Given the description of an element on the screen output the (x, y) to click on. 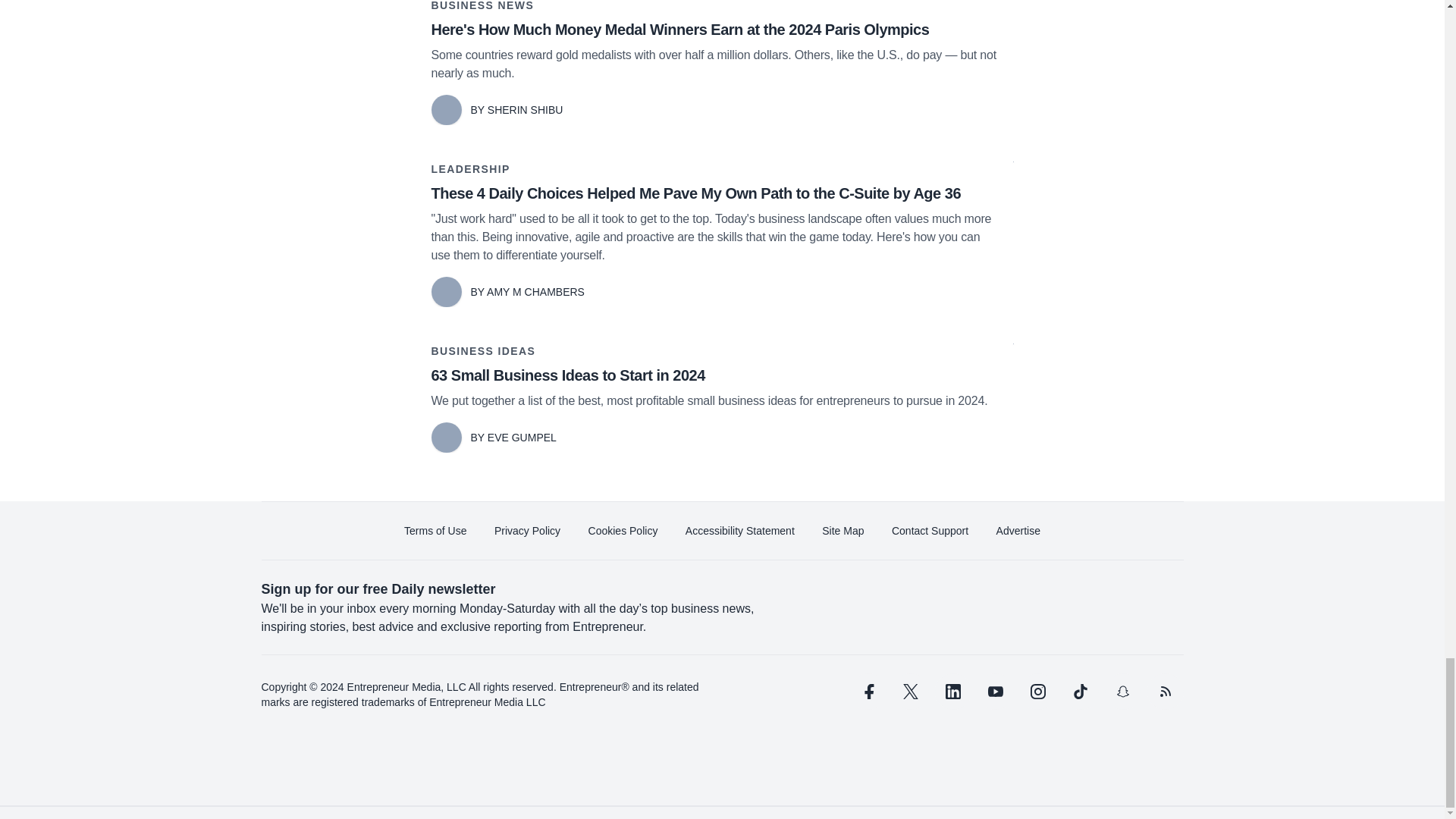
tiktok (1079, 691)
snapchat (1121, 691)
youtube (994, 691)
linkedin (952, 691)
twitter (909, 691)
facebook (866, 691)
instagram (1037, 691)
